Given the description of an element on the screen output the (x, y) to click on. 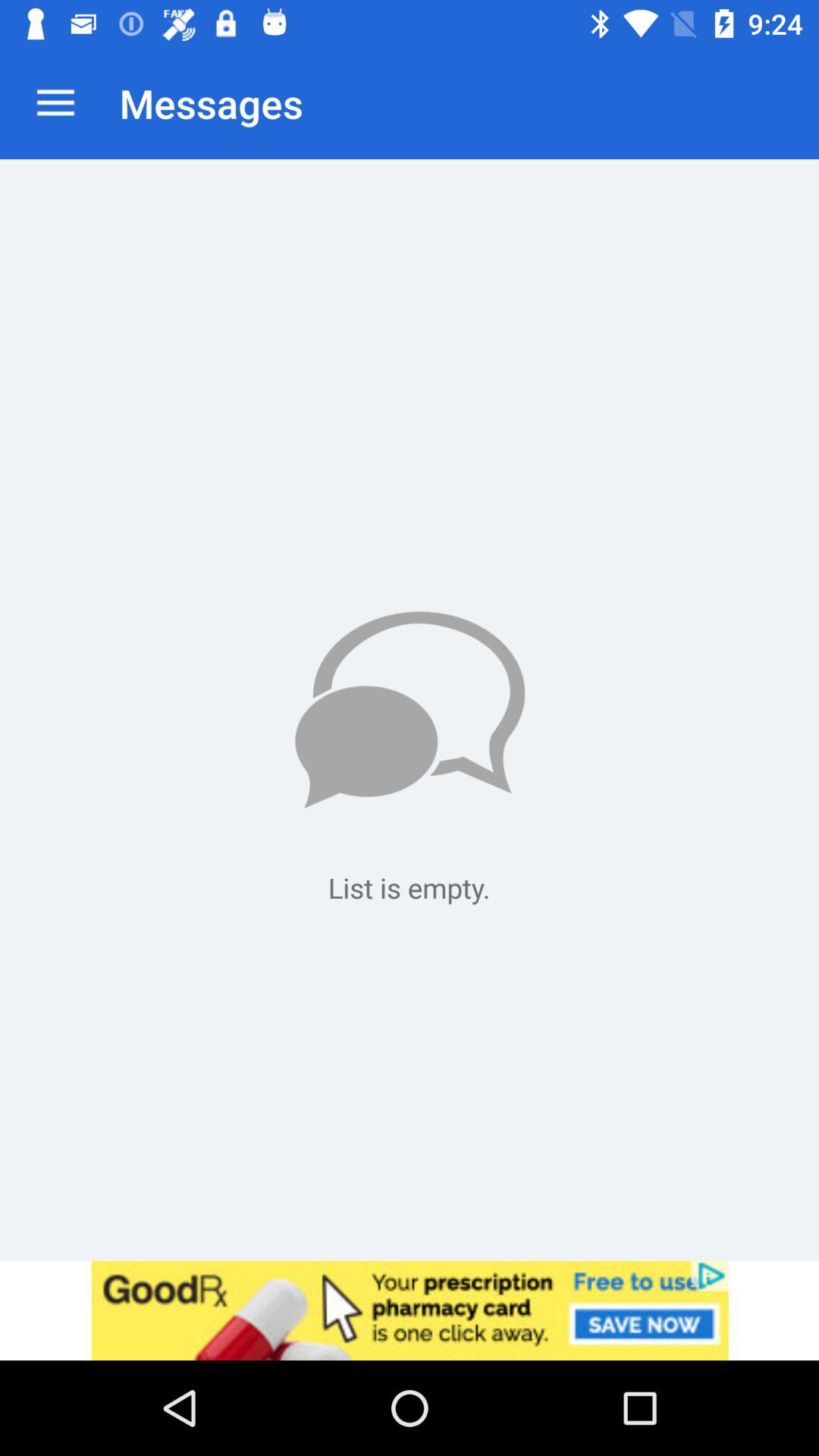
advertisement (409, 1310)
